Given the description of an element on the screen output the (x, y) to click on. 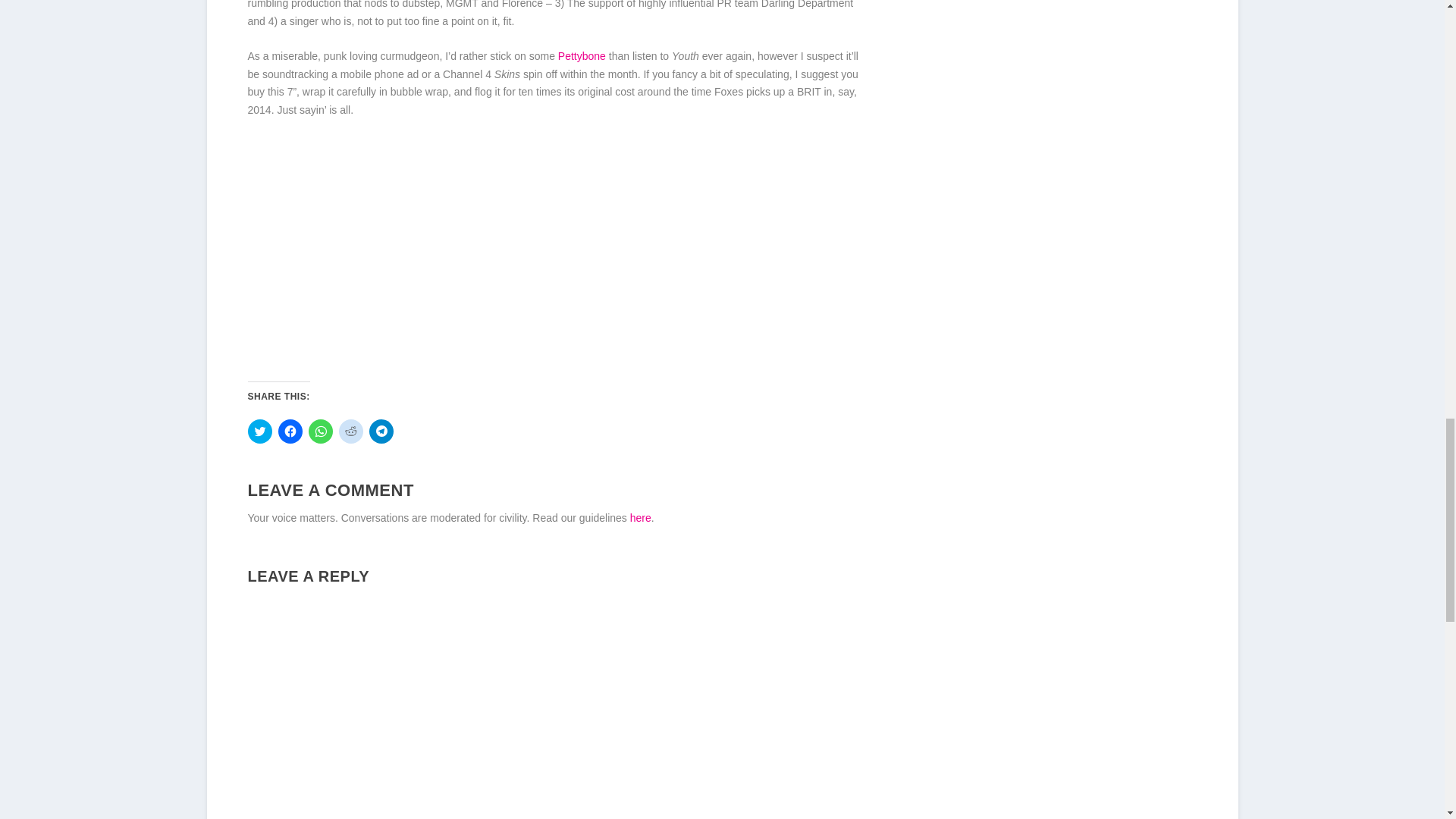
Click to share on Facebook (289, 431)
Click to share on Reddit (349, 431)
Click to share on Twitter (258, 431)
Click to share on Telegram (380, 431)
Click to share on WhatsApp (319, 431)
here (640, 517)
Pettybone (581, 55)
